Given the description of an element on the screen output the (x, y) to click on. 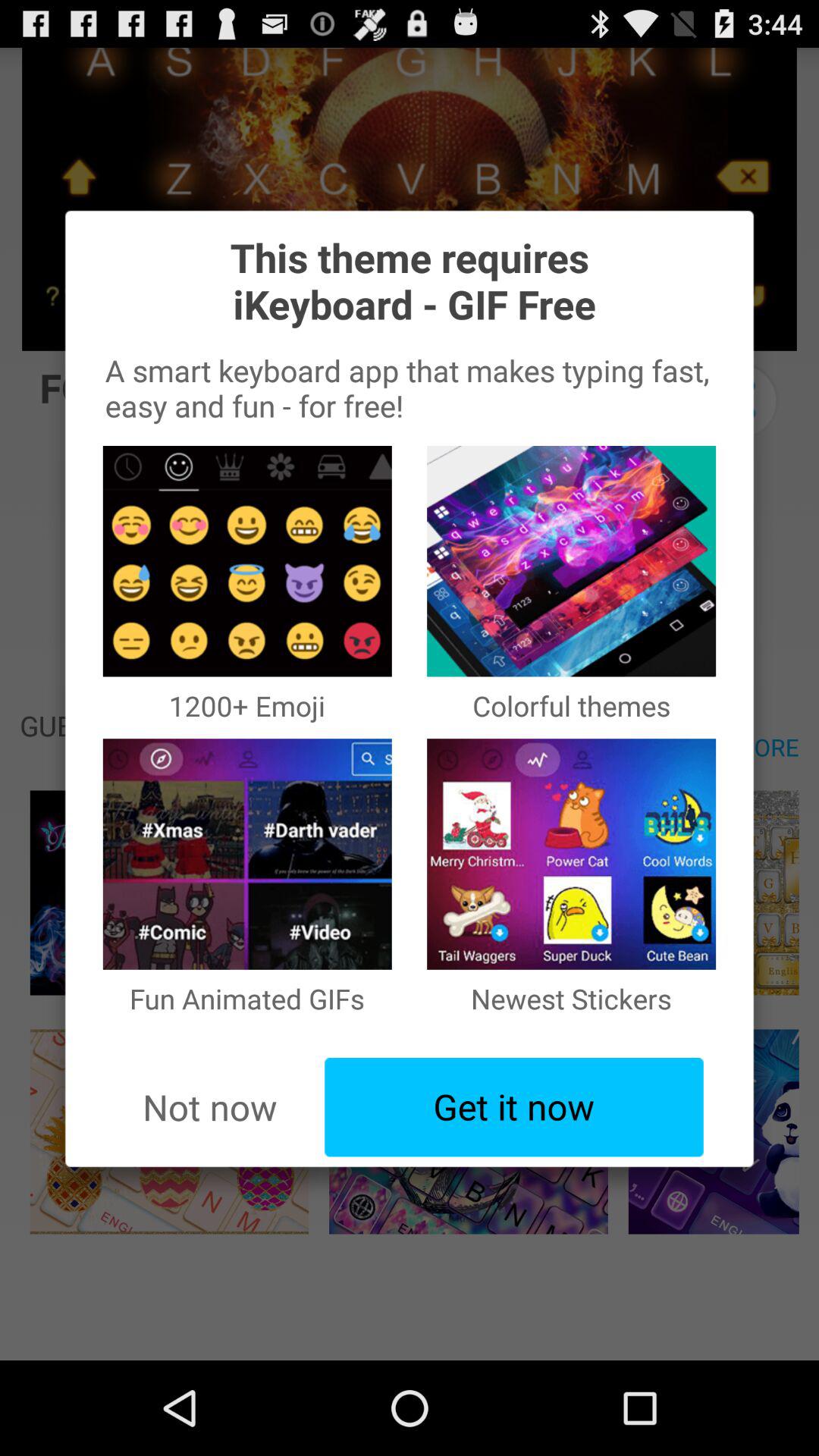
launch the not now (209, 1106)
